Given the description of an element on the screen output the (x, y) to click on. 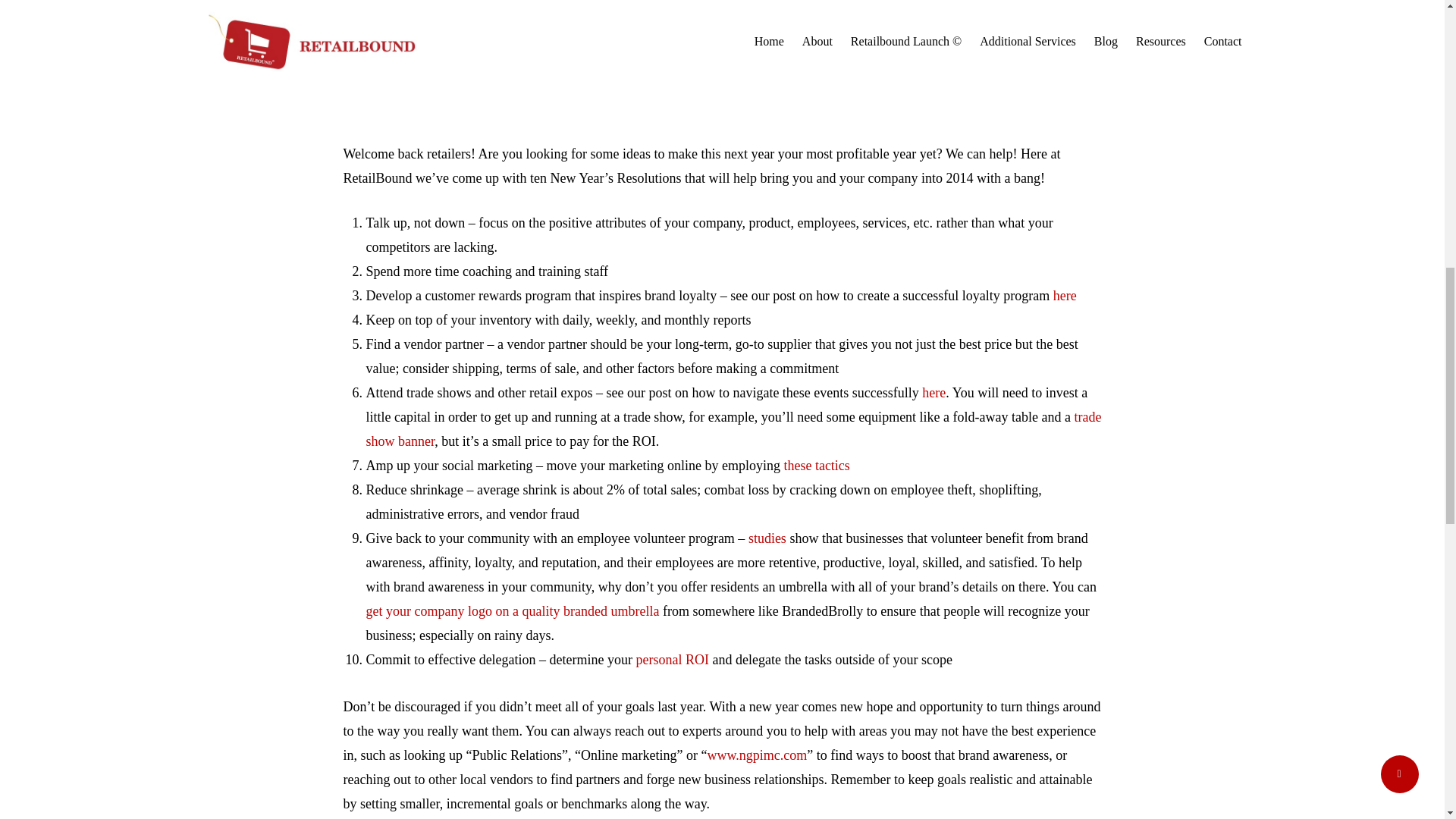
personal ROI (672, 659)
studies (767, 538)
get your company logo on a quality branded umbrella (512, 611)
these tactics (815, 465)
here (932, 392)
trade show banner (732, 428)
here (1064, 295)
www.ngpimc.com (756, 754)
